Given the description of an element on the screen output the (x, y) to click on. 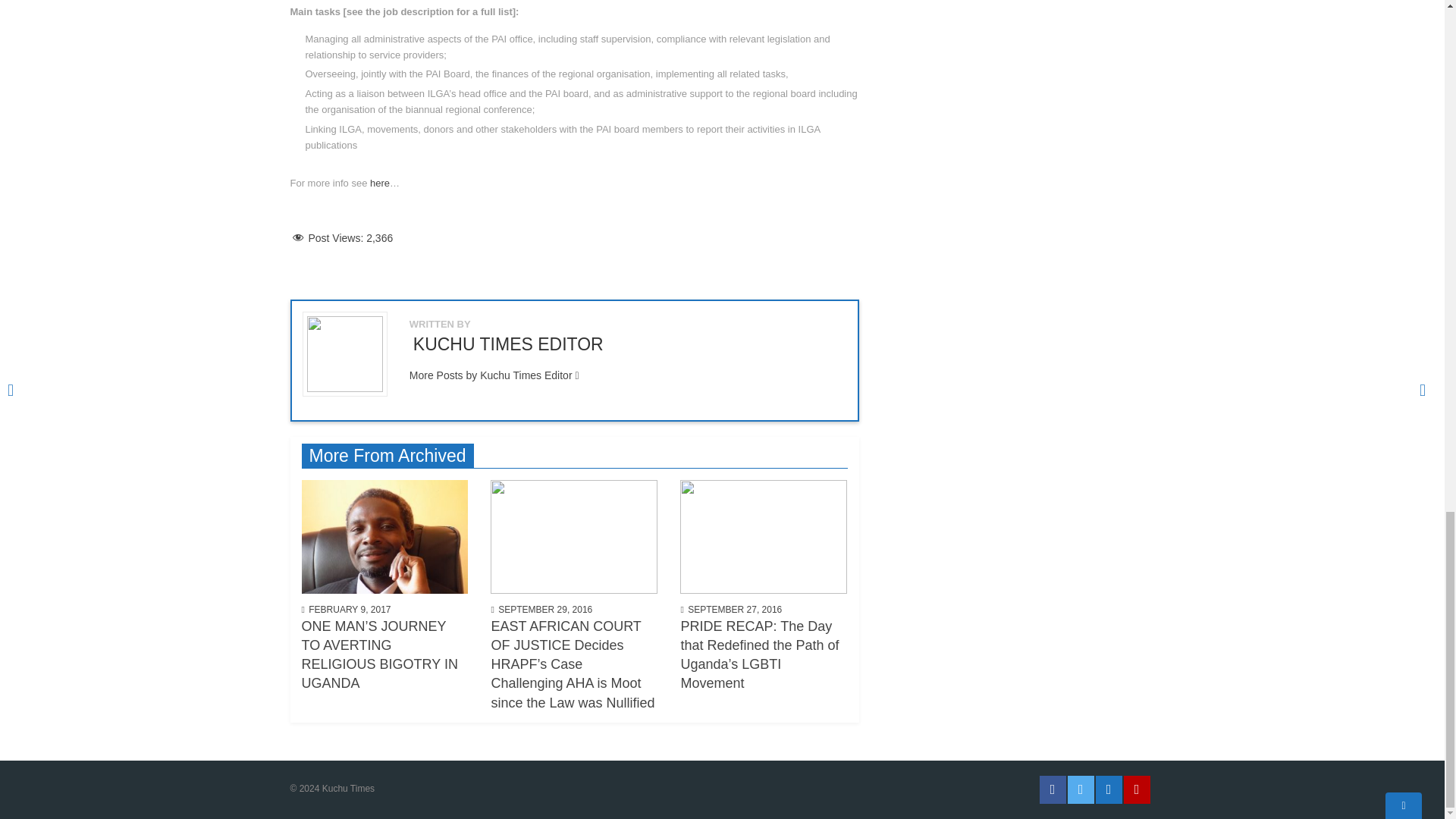
Twitter (1080, 789)
Instagram (1107, 789)
Facebook (1052, 789)
ILGA Job Posting (379, 183)
YouTube (1137, 789)
